Given the description of an element on the screen output the (x, y) to click on. 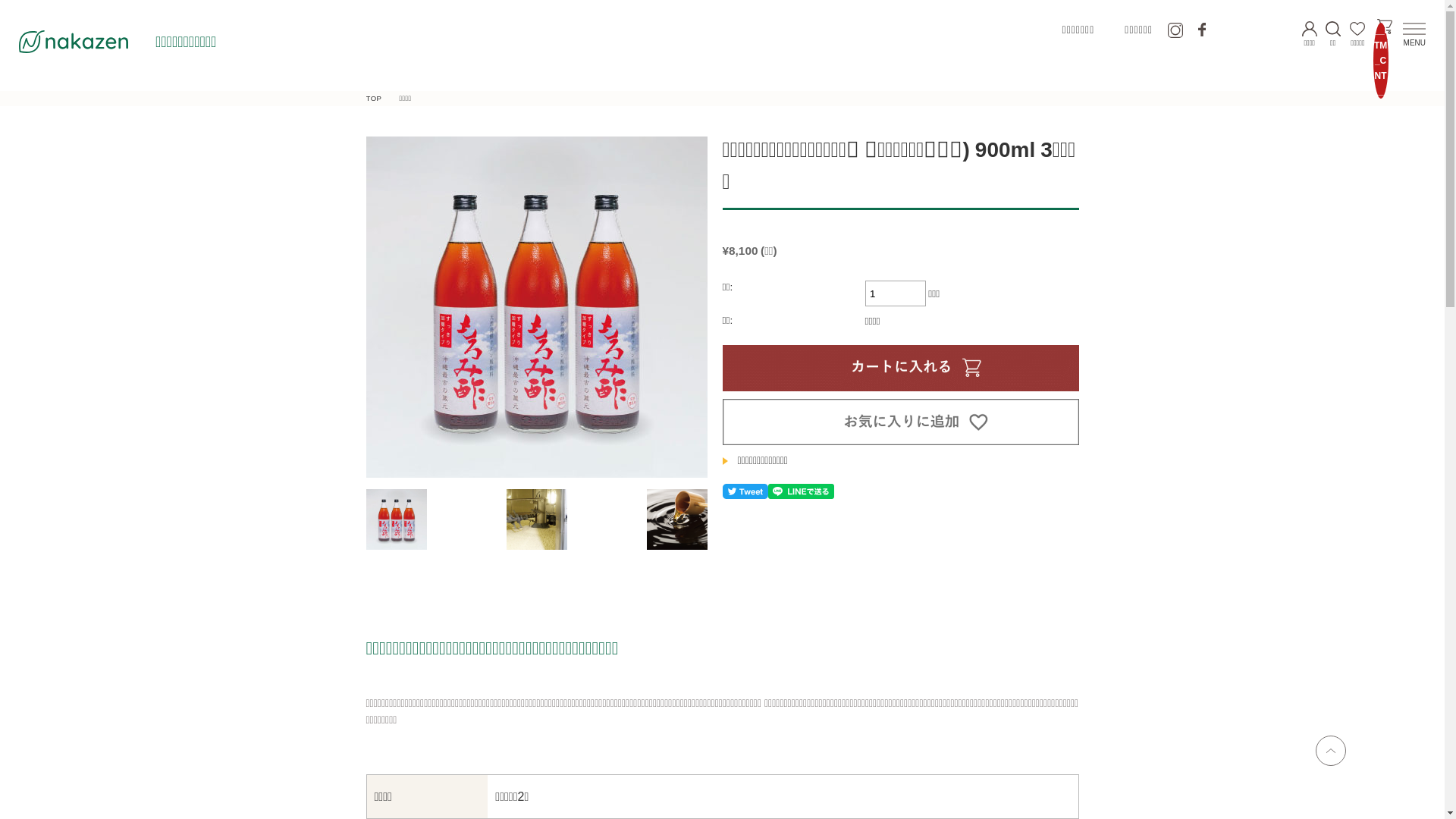
TOP Element type: text (373, 98)
MENU Element type: text (1414, 40)
